Given the description of an element on the screen output the (x, y) to click on. 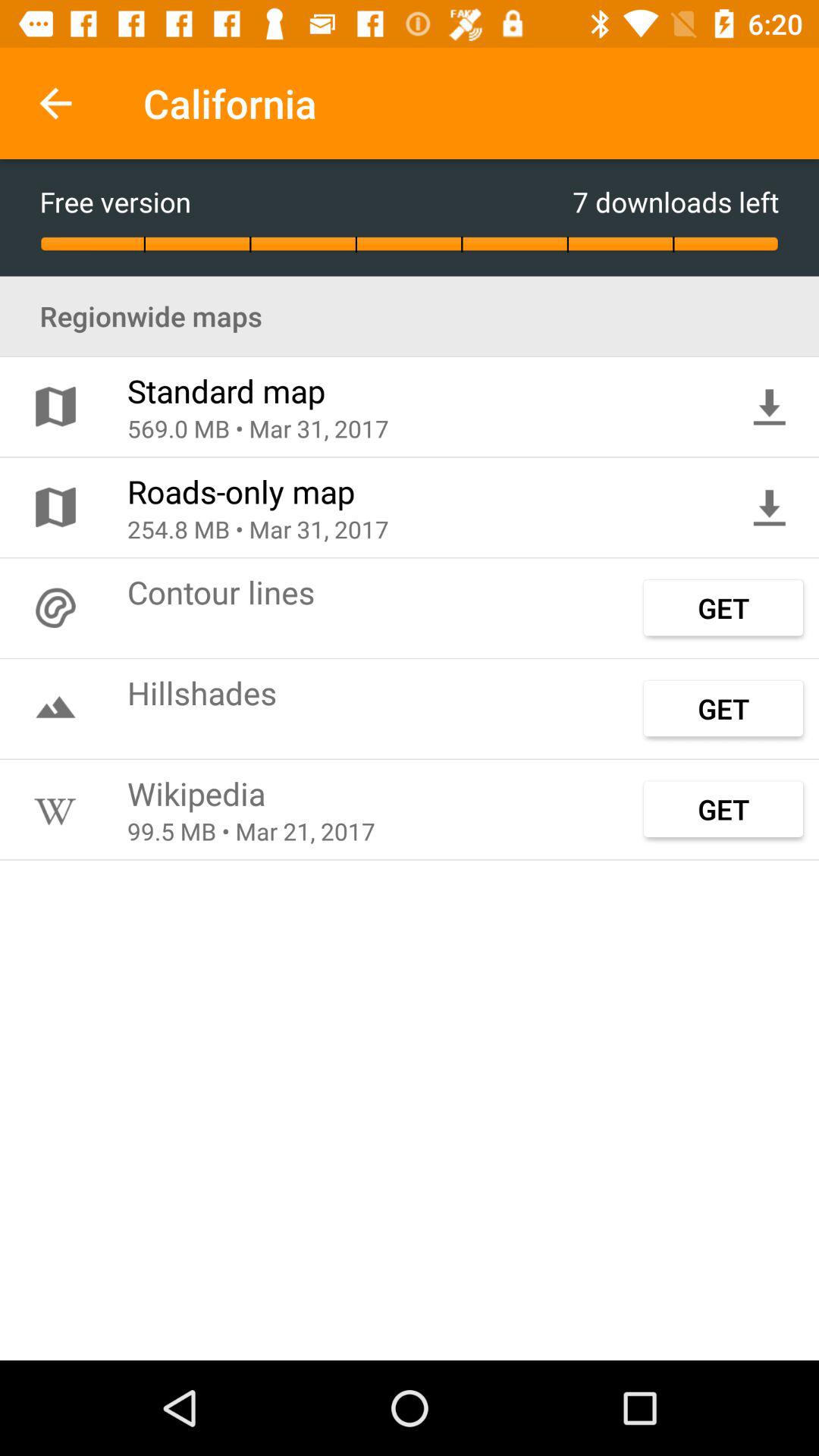
press icon above free version (55, 103)
